Given the description of an element on the screen output the (x, y) to click on. 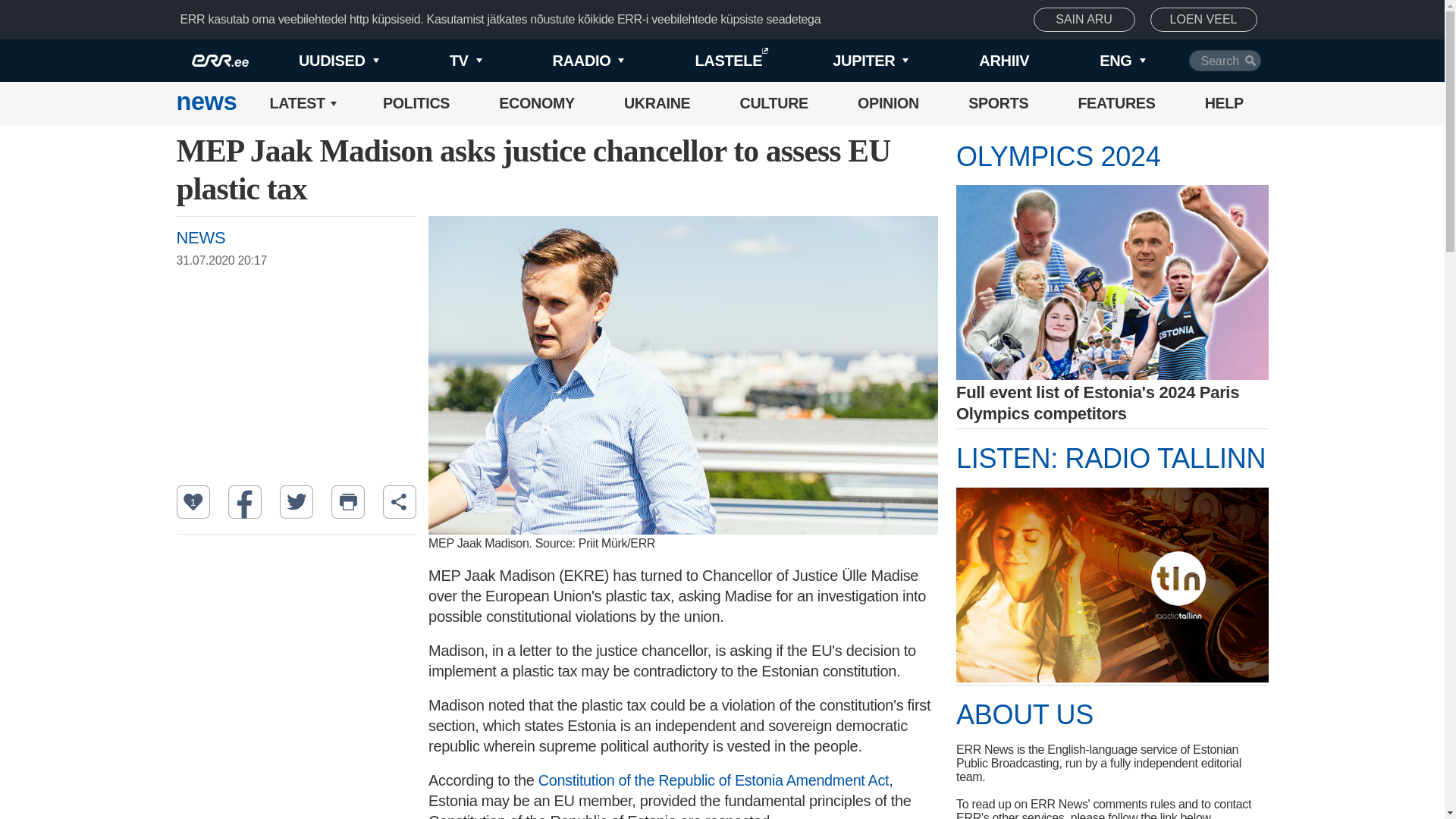
31.07.2020 20:17 (302, 260)
1 (192, 501)
Avalehele (205, 103)
LOEN VEEL (1203, 19)
TV (440, 60)
RAADIO (563, 60)
SAIN ARU (1084, 19)
UUDISED (314, 60)
